Given the description of an element on the screen output the (x, y) to click on. 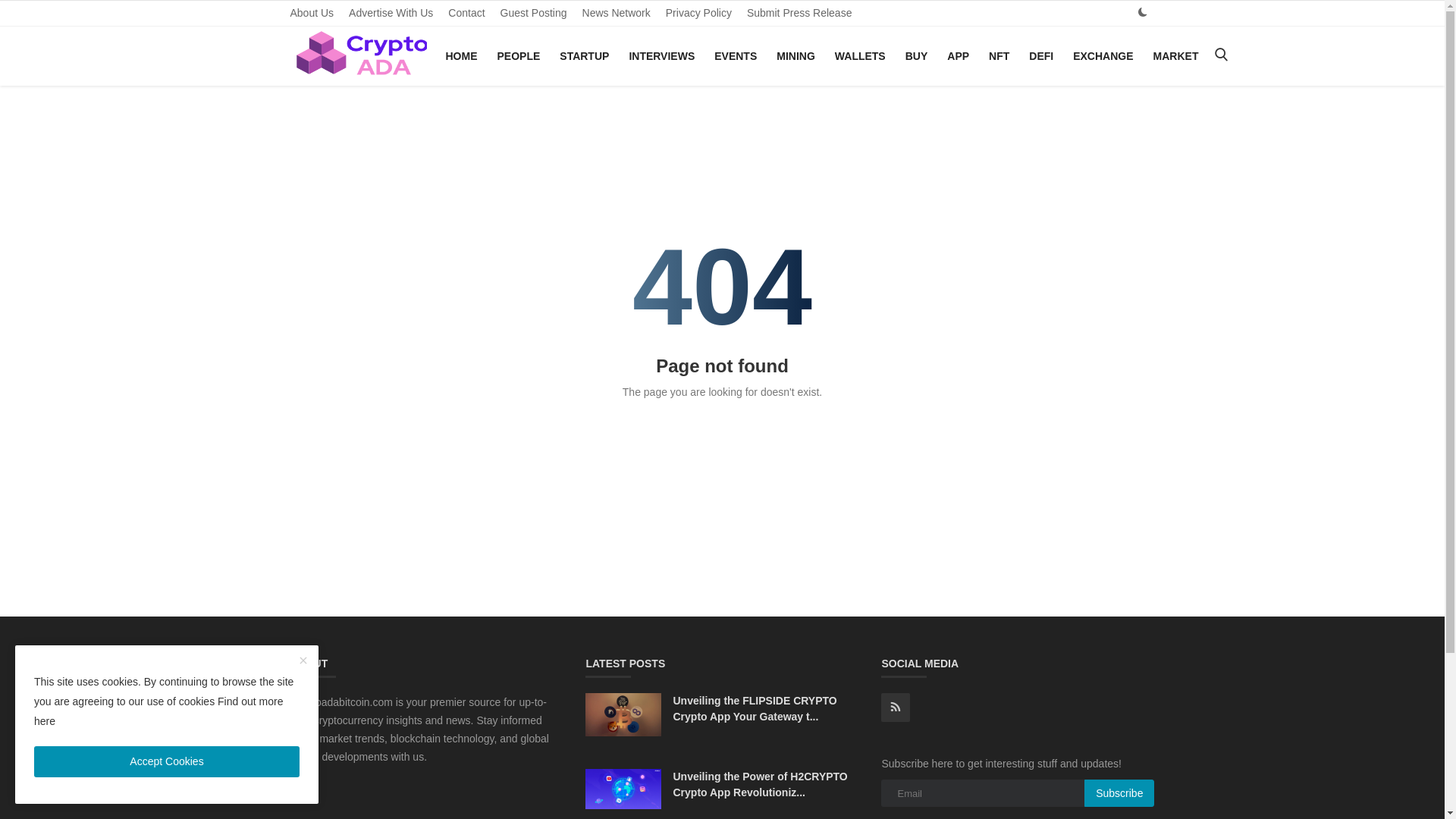
Guest Posting (534, 13)
PEOPLE (518, 55)
News Network (616, 13)
Privacy Policy (698, 13)
dark (1141, 12)
Contact (466, 13)
EVENTS (735, 55)
MARKET (1176, 55)
INTERVIEWS (661, 55)
WALLETS (860, 55)
